Given the description of an element on the screen output the (x, y) to click on. 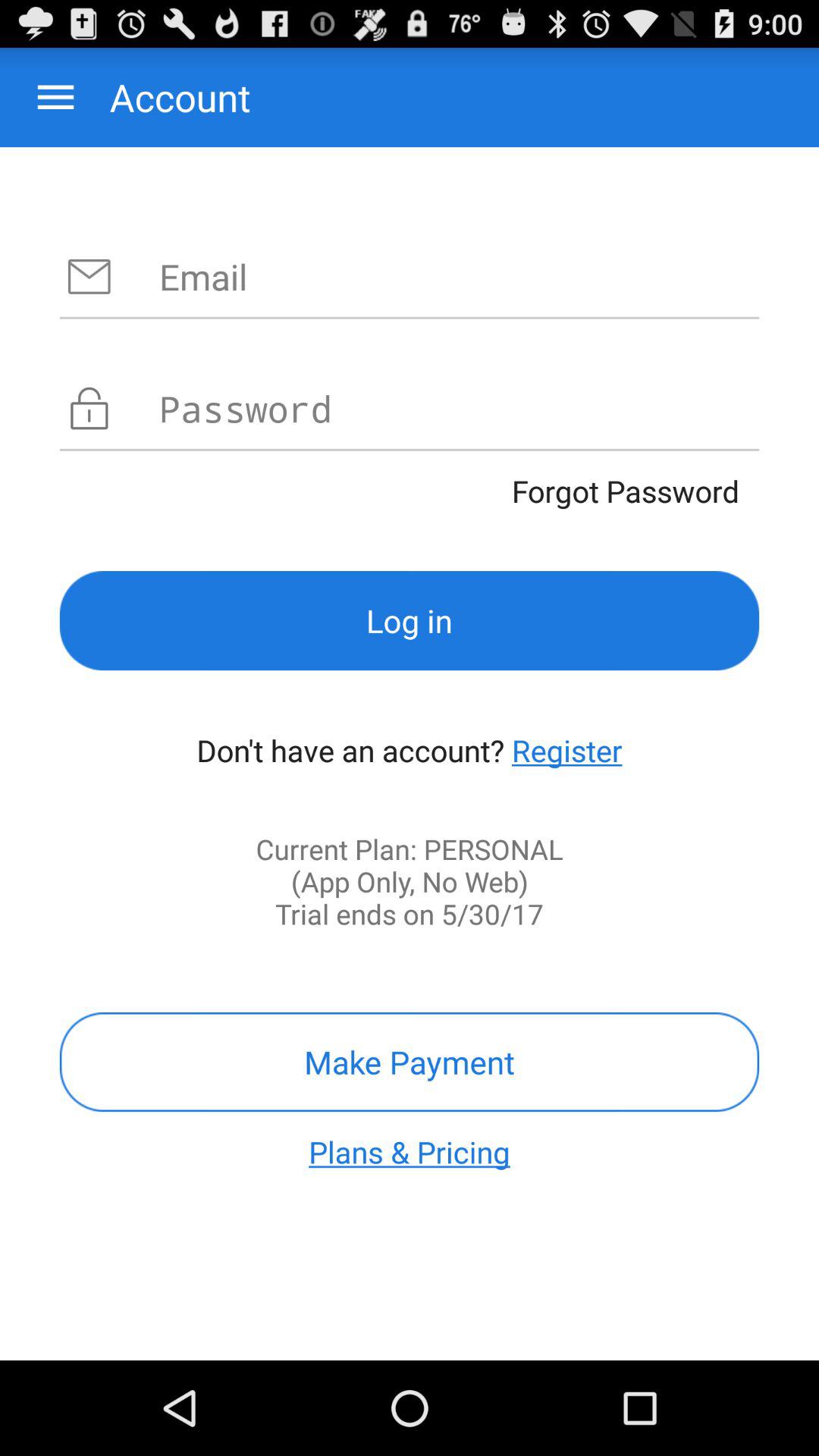
enter your email (459, 276)
